Given the description of an element on the screen output the (x, y) to click on. 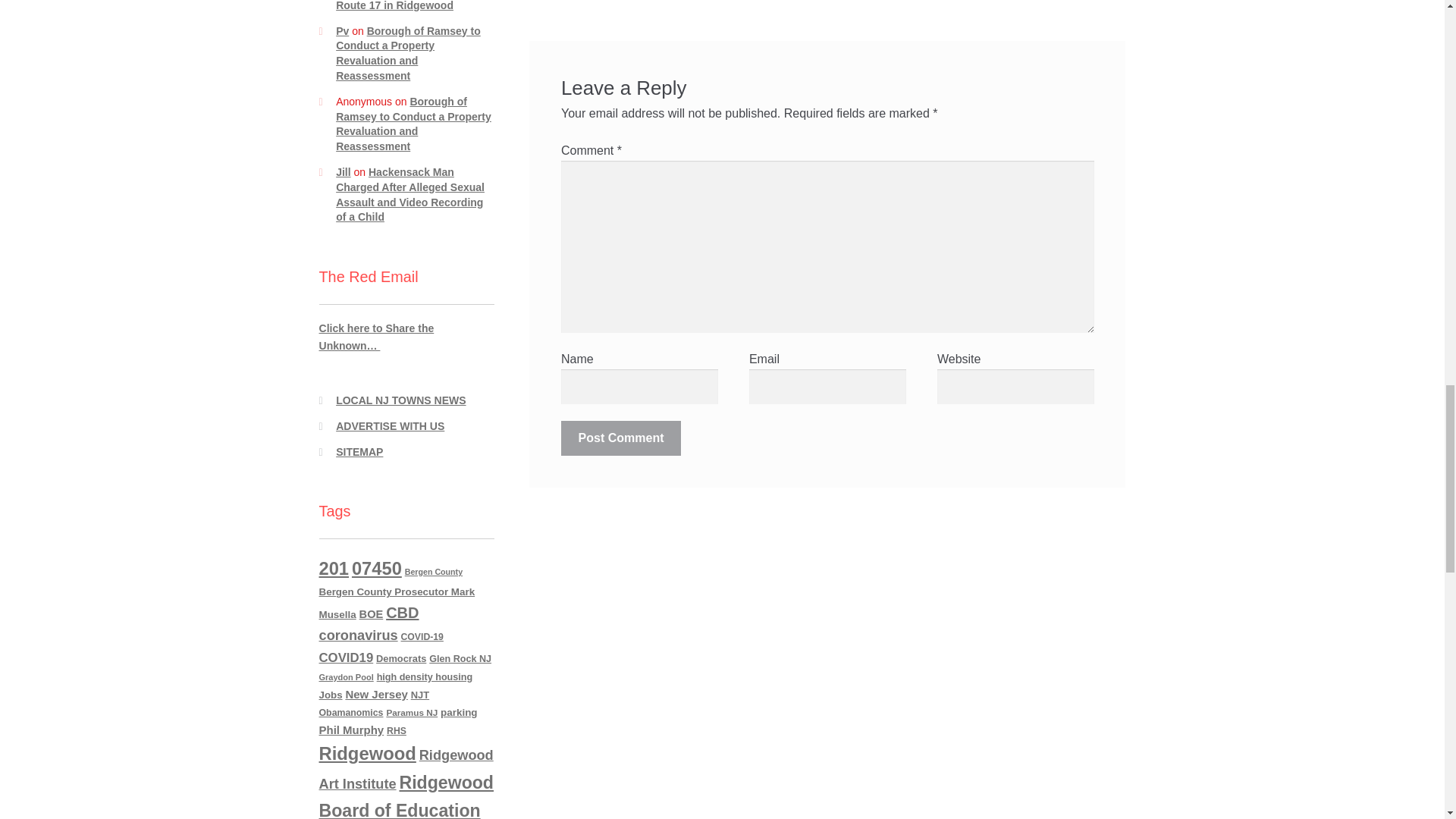
Post Comment (620, 437)
Post Comment (620, 437)
